Given the description of an element on the screen output the (x, y) to click on. 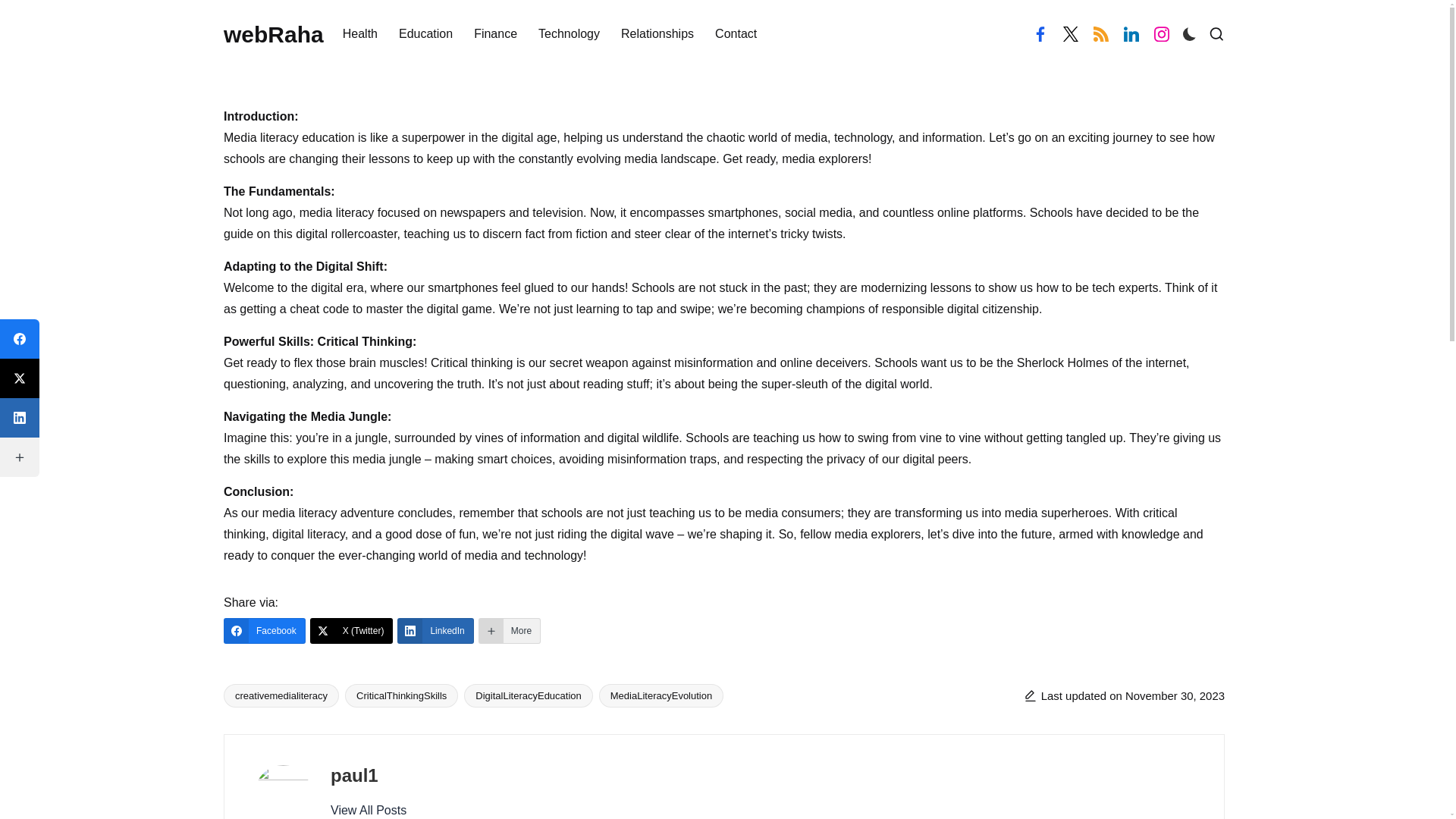
CriticalThinkingSkills (401, 695)
Health (359, 34)
rss.com (1100, 33)
Facebook (264, 630)
LinkedIn (435, 630)
Technology (568, 34)
Finance (495, 34)
More (509, 630)
twitter.com (1070, 33)
Contact (735, 34)
